Given the description of an element on the screen output the (x, y) to click on. 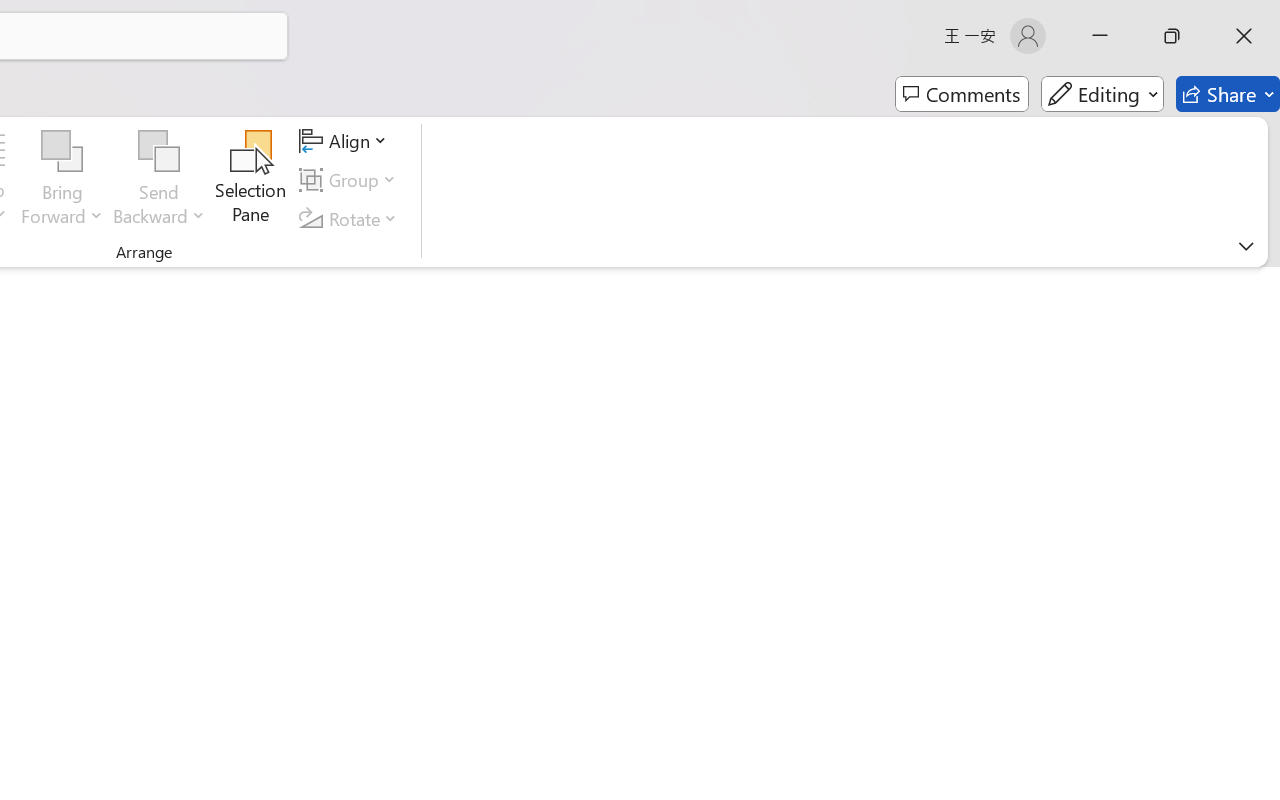
Align (346, 141)
Comments (961, 94)
Bring Forward (62, 179)
Rotate (351, 218)
Selection Pane... (251, 179)
Group (351, 179)
Bring Forward (62, 151)
Editing (1101, 94)
More Options (159, 208)
Send Backward (159, 151)
Send Backward (159, 179)
Ribbon Display Options (1246, 245)
Share (1228, 94)
Minimize (1099, 36)
